Given the description of an element on the screen output the (x, y) to click on. 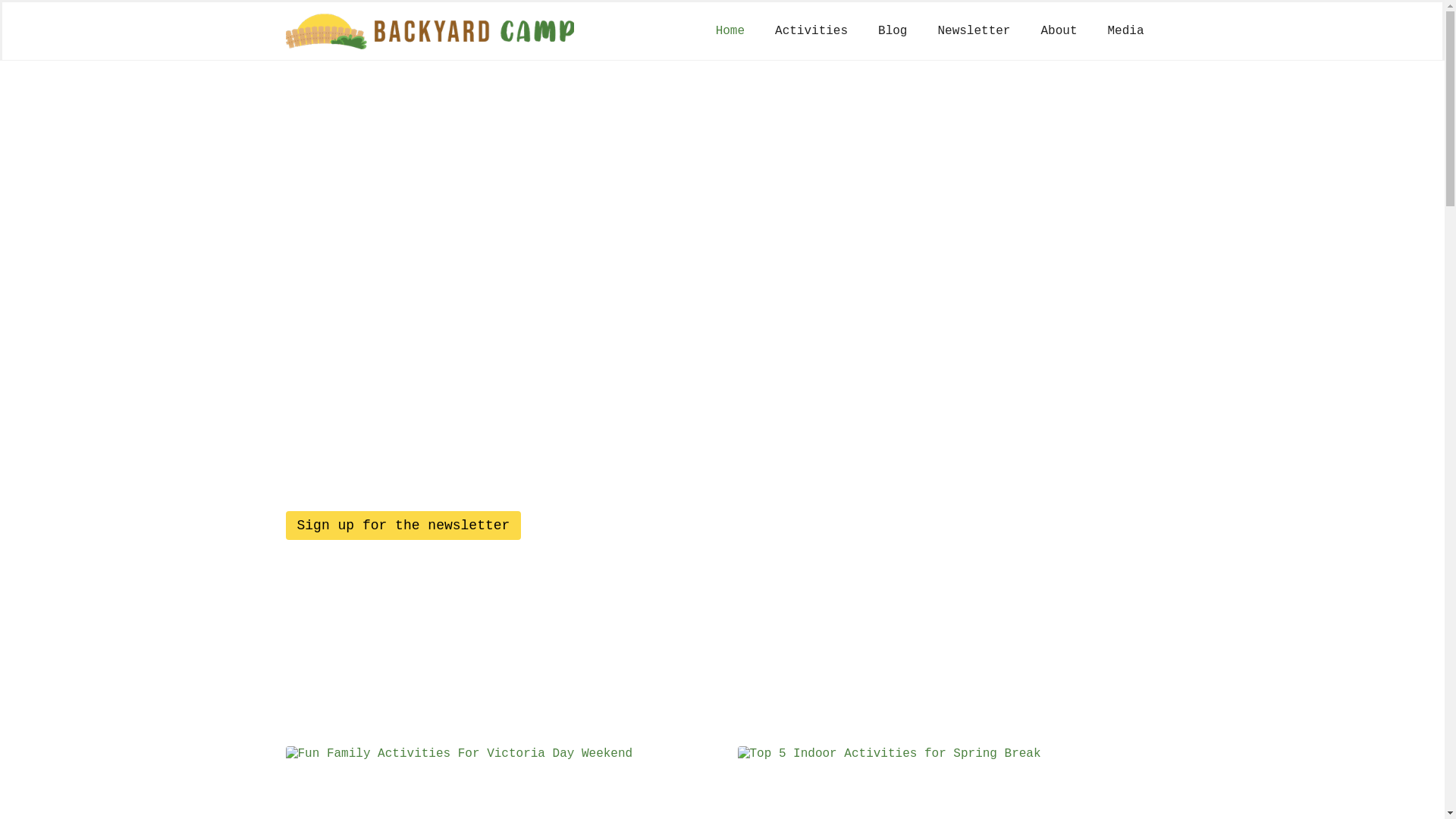
Media Element type: text (1125, 30)
Activities Element type: text (810, 30)
Home Element type: text (729, 30)
About Element type: text (1058, 30)
Newsletter Element type: text (973, 30)
Sign up for the newsletter Element type: text (402, 525)
Blog Element type: text (892, 30)
